Given the description of an element on the screen output the (x, y) to click on. 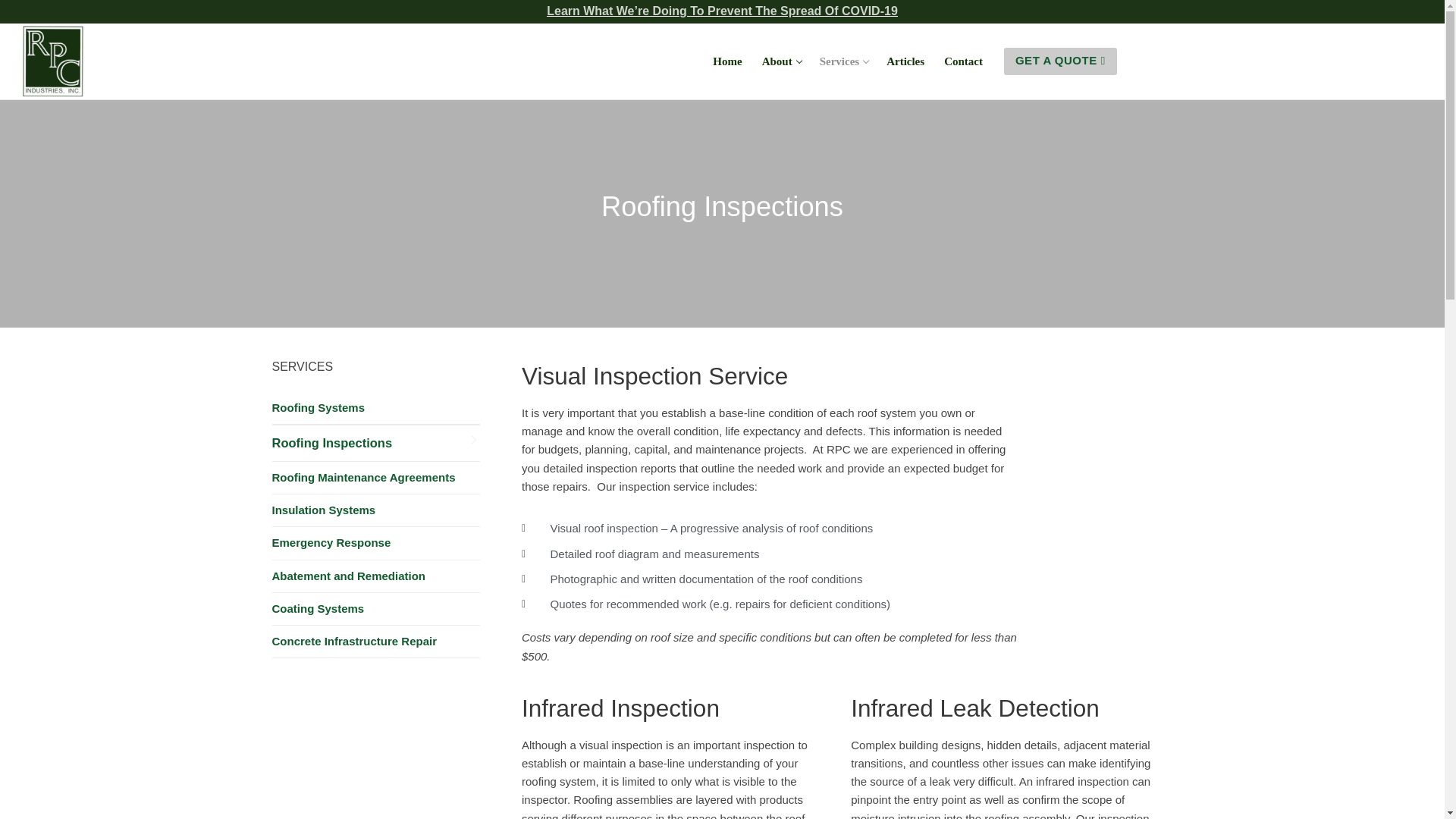
Contact (963, 61)
GET A QUOTE (1060, 61)
Home (780, 61)
Articles (727, 61)
